Given the description of an element on the screen output the (x, y) to click on. 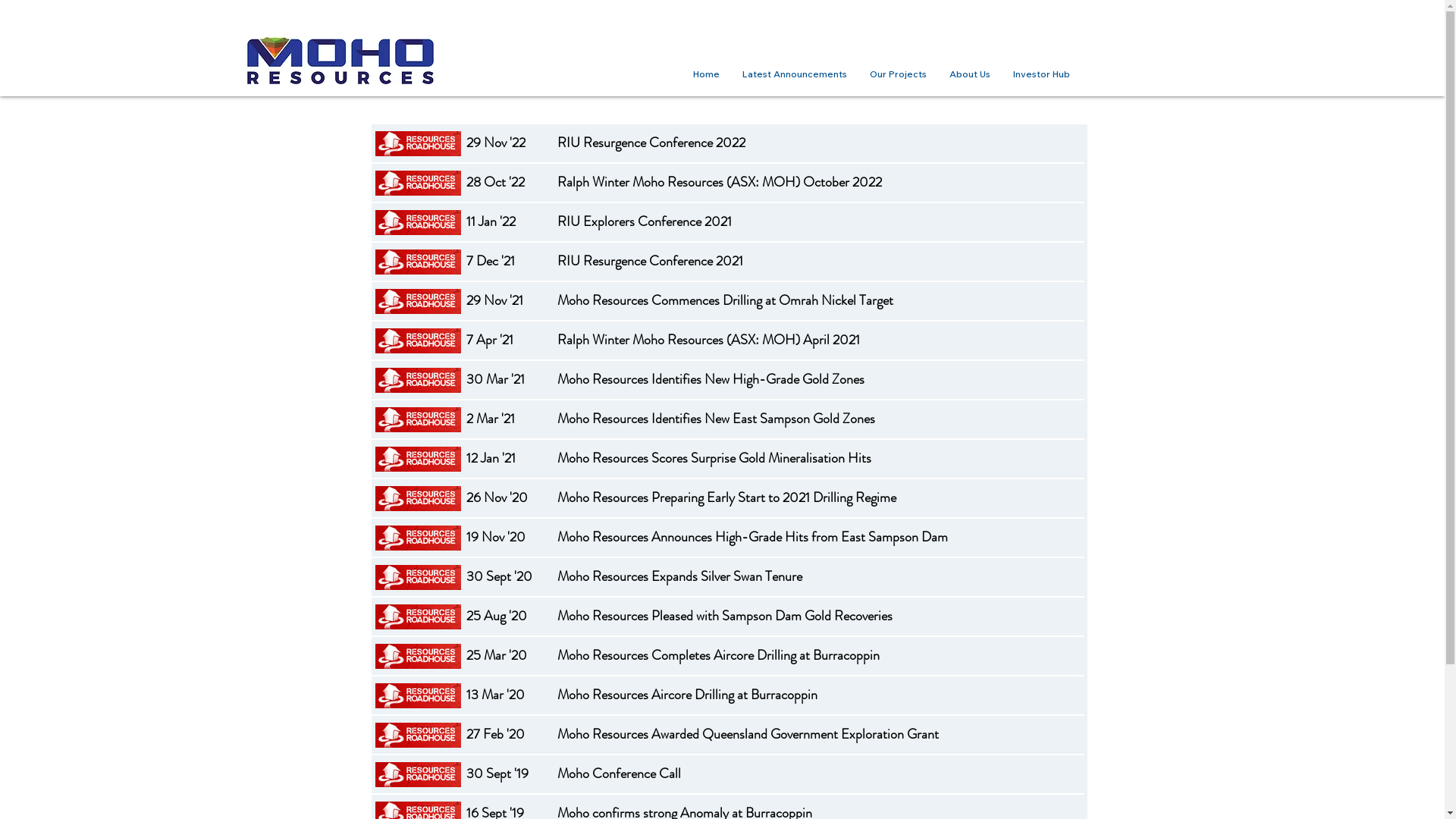
Home Element type: text (705, 73)
Latest Announcements Element type: text (794, 73)
Investor Hub Element type: text (1040, 73)
About Us Element type: text (969, 73)
Our Projects Element type: text (898, 73)
